Given the description of an element on the screen output the (x, y) to click on. 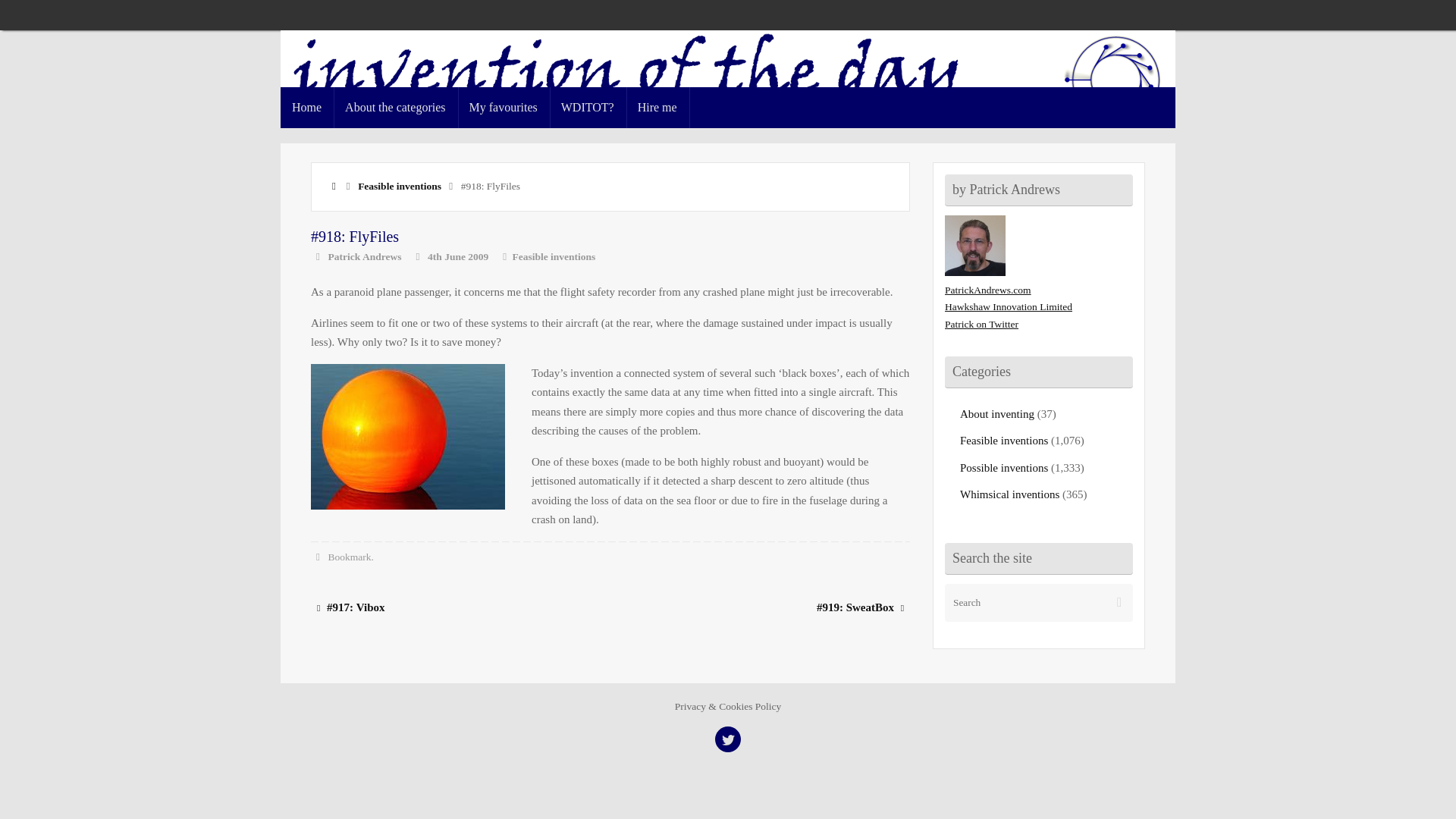
Categories (504, 256)
Possible inventions (1003, 467)
PatrickAndrews.com (987, 289)
Patrick on Twitter (980, 324)
Feasible inventions (399, 185)
WDITOT? (588, 106)
Date (417, 256)
Invention Of The Day (727, 83)
My favourites (504, 106)
Patrick Andrews (365, 256)
Twitter (727, 739)
 Bookmark the permalink (317, 556)
Hire me (657, 106)
Whimsical inventions (1009, 494)
Home (307, 106)
